Given the description of an element on the screen output the (x, y) to click on. 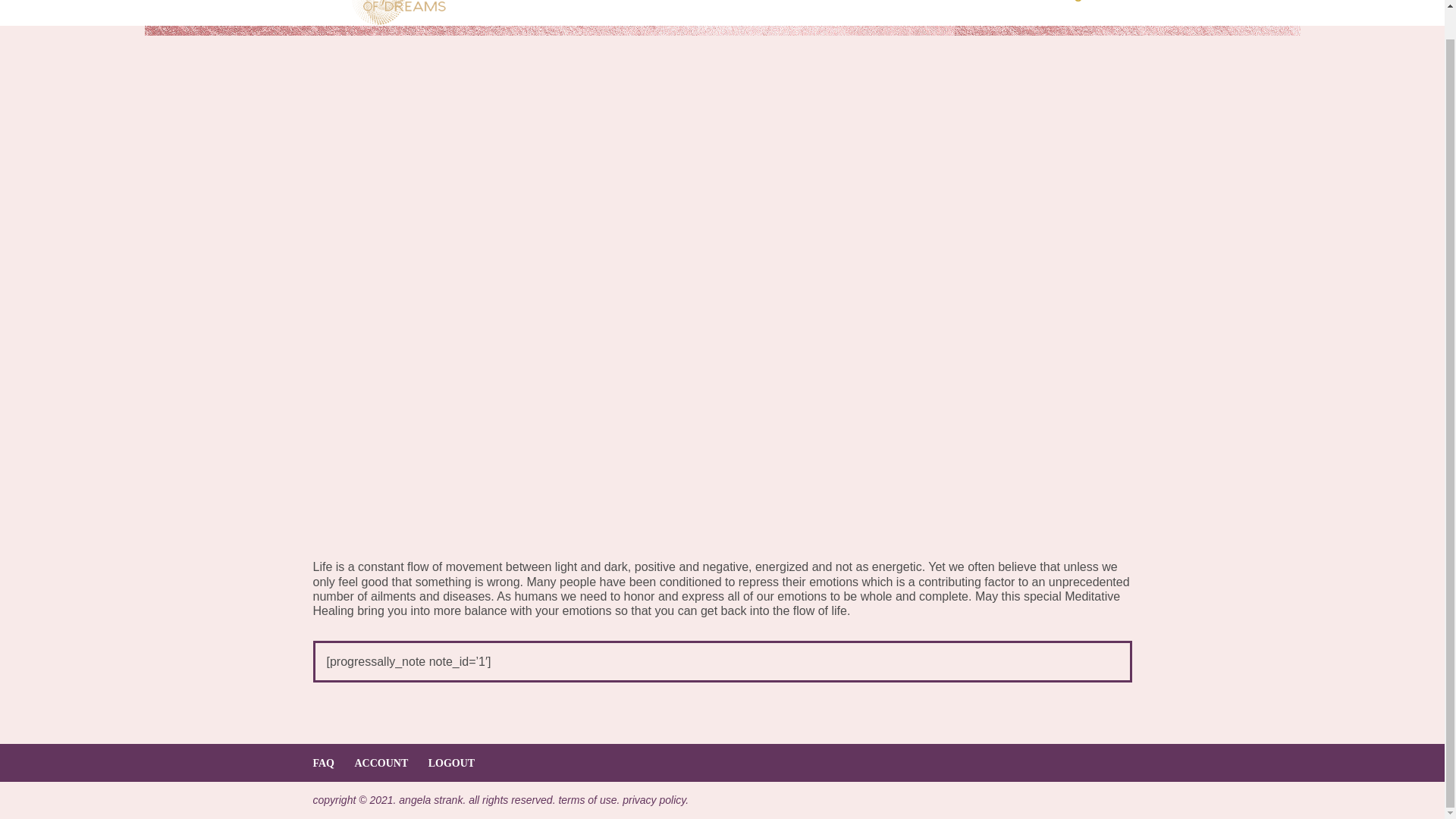
account (937, 5)
contact (1014, 5)
dashboard (850, 5)
log in (1079, 5)
